Given the description of an element on the screen output the (x, y) to click on. 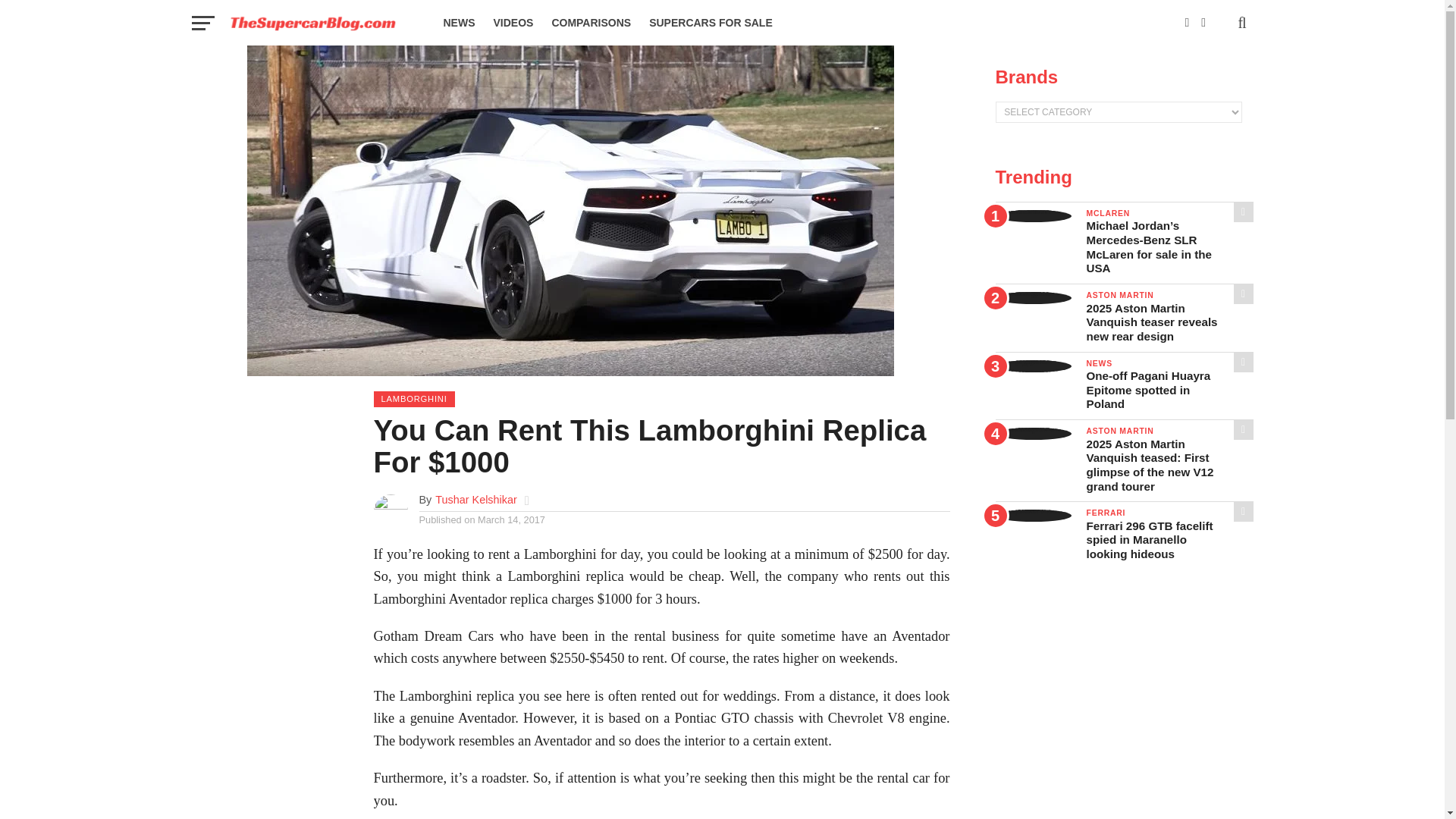
COMPARISONS (590, 22)
Tushar Kelshikar (475, 499)
Posts by Tushar Kelshikar (475, 499)
SUPERCARS FOR SALE (710, 22)
VIDEOS (512, 22)
NEWS (458, 22)
